Given the description of an element on the screen output the (x, y) to click on. 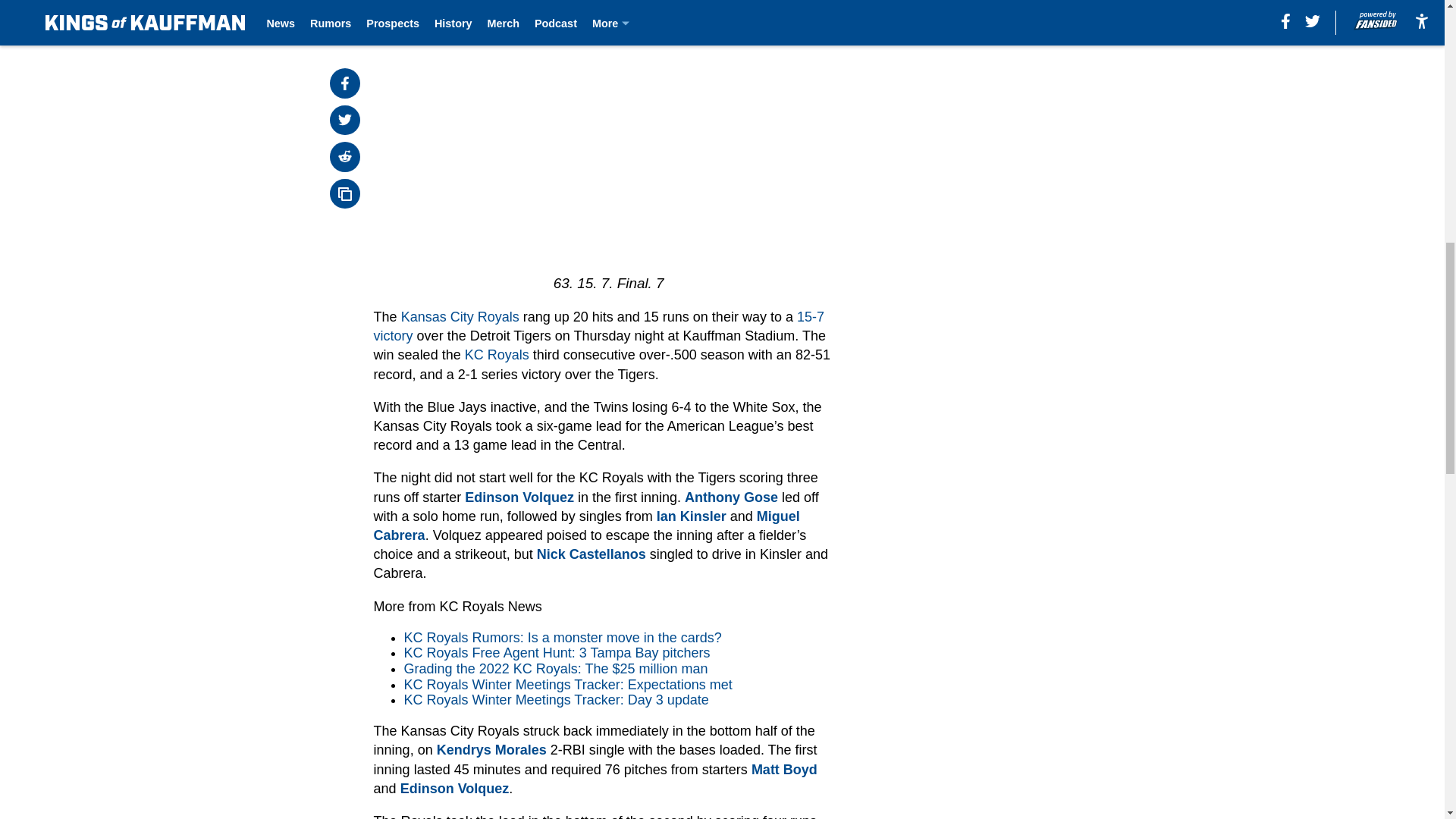
Edinson Volquez (518, 497)
Nick Castellanos (591, 554)
Ian Kinsler (691, 516)
Miguel Cabrera (586, 525)
Kansas City Royals (460, 316)
15-7 victory (599, 326)
KC Royals Rumors: Is a monster move in the cards? (563, 637)
Anthony Gose (730, 497)
KC Royals (496, 354)
